Given the description of an element on the screen output the (x, y) to click on. 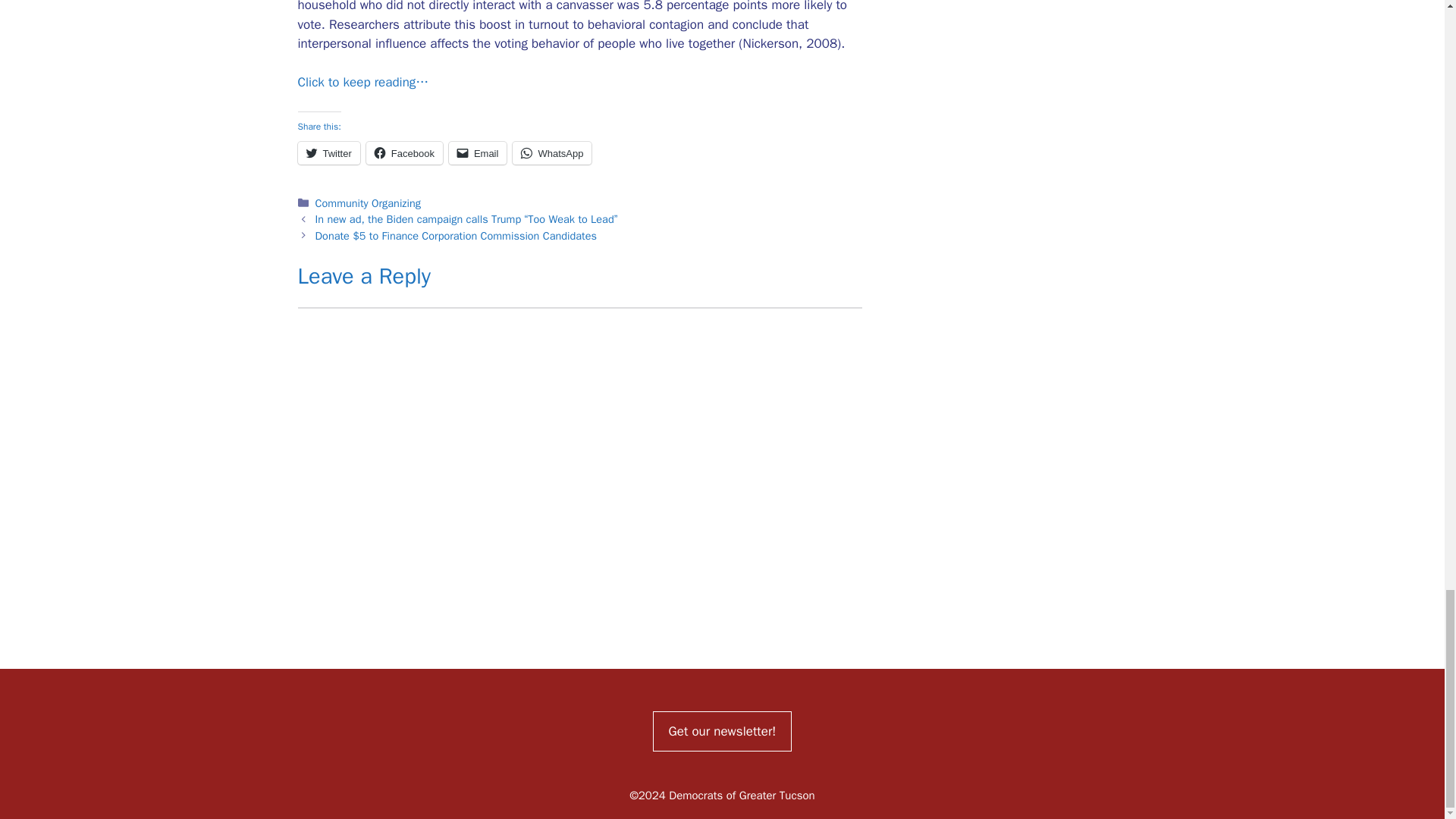
Community Organizing (367, 202)
Click to email a link to a friend (477, 152)
Twitter (328, 152)
Email (477, 152)
Click to share on WhatsApp (551, 152)
Get our newsletter! (722, 731)
Click to share on Twitter (328, 152)
Click to share on Facebook (404, 152)
WhatsApp (551, 152)
